Given the description of an element on the screen output the (x, y) to click on. 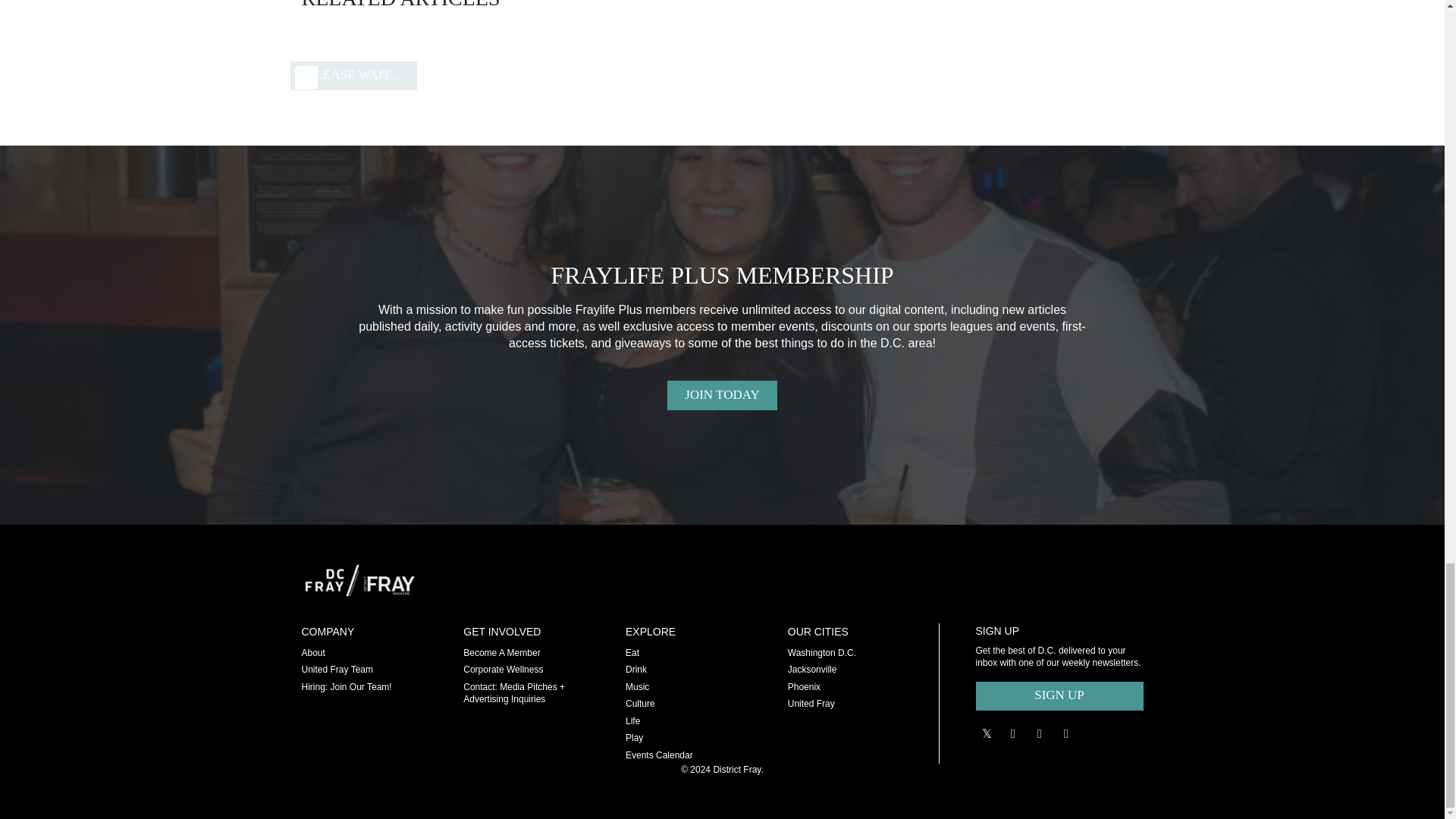
Facebook share (1038, 733)
Twitter share (986, 733)
linkedin Share (1066, 733)
Google Plus Share (1014, 733)
